Given the description of an element on the screen output the (x, y) to click on. 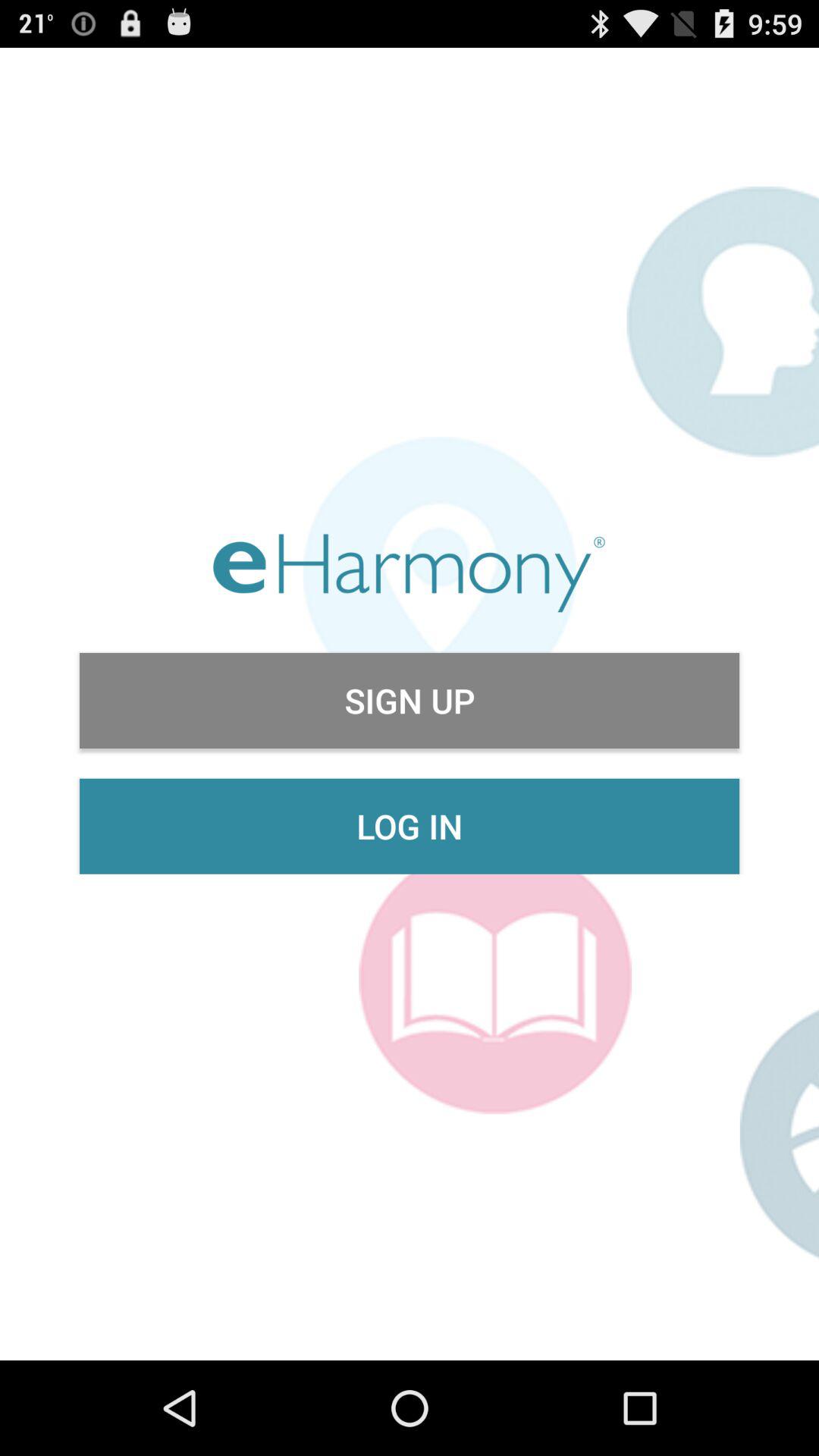
scroll until sign up item (409, 700)
